Given the description of an element on the screen output the (x, y) to click on. 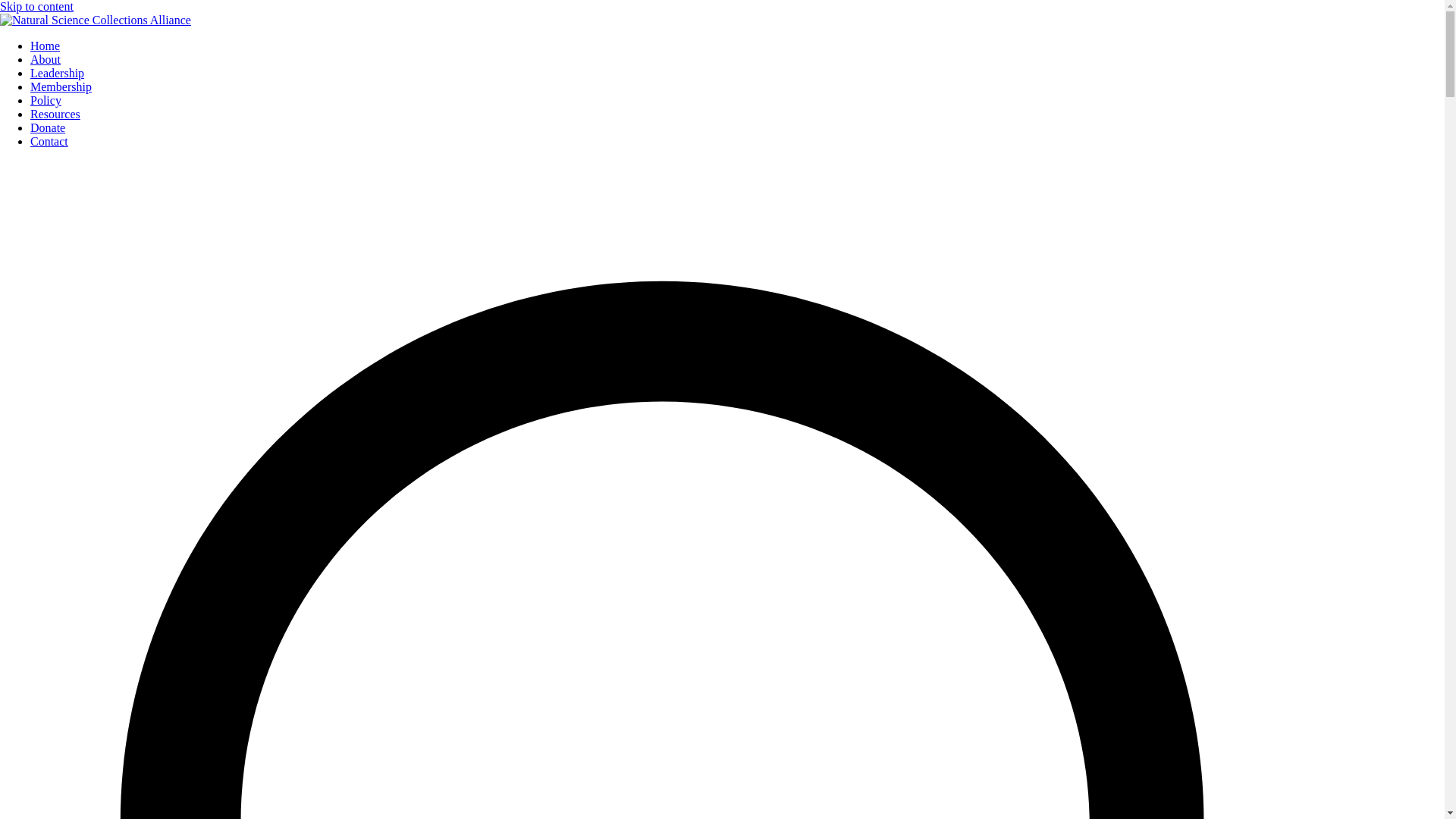
Skip to content (37, 6)
Donate (47, 127)
Home (44, 45)
Membership (60, 86)
Contact (49, 141)
About (45, 59)
Policy (45, 100)
Resources (55, 113)
Leadership (57, 72)
Natural Science Collections Alliance (89, 45)
